Given the description of an element on the screen output the (x, y) to click on. 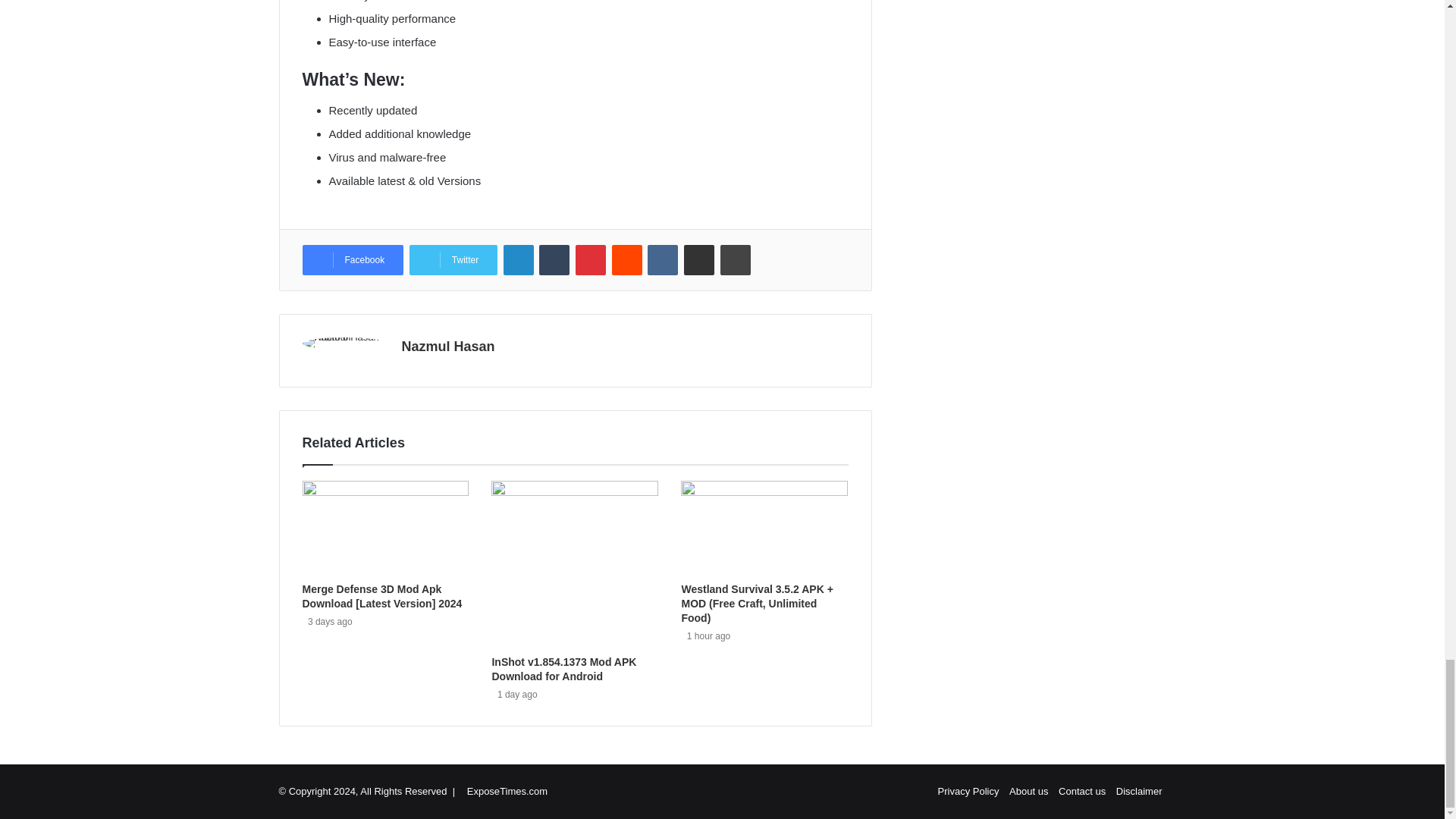
Twitter (453, 259)
Pinterest (590, 259)
Twitter (453, 259)
Tumblr (553, 259)
Tumblr (553, 259)
Share via Email (699, 259)
LinkedIn (518, 259)
Print (735, 259)
Facebook (352, 259)
LinkedIn (518, 259)
